Given the description of an element on the screen output the (x, y) to click on. 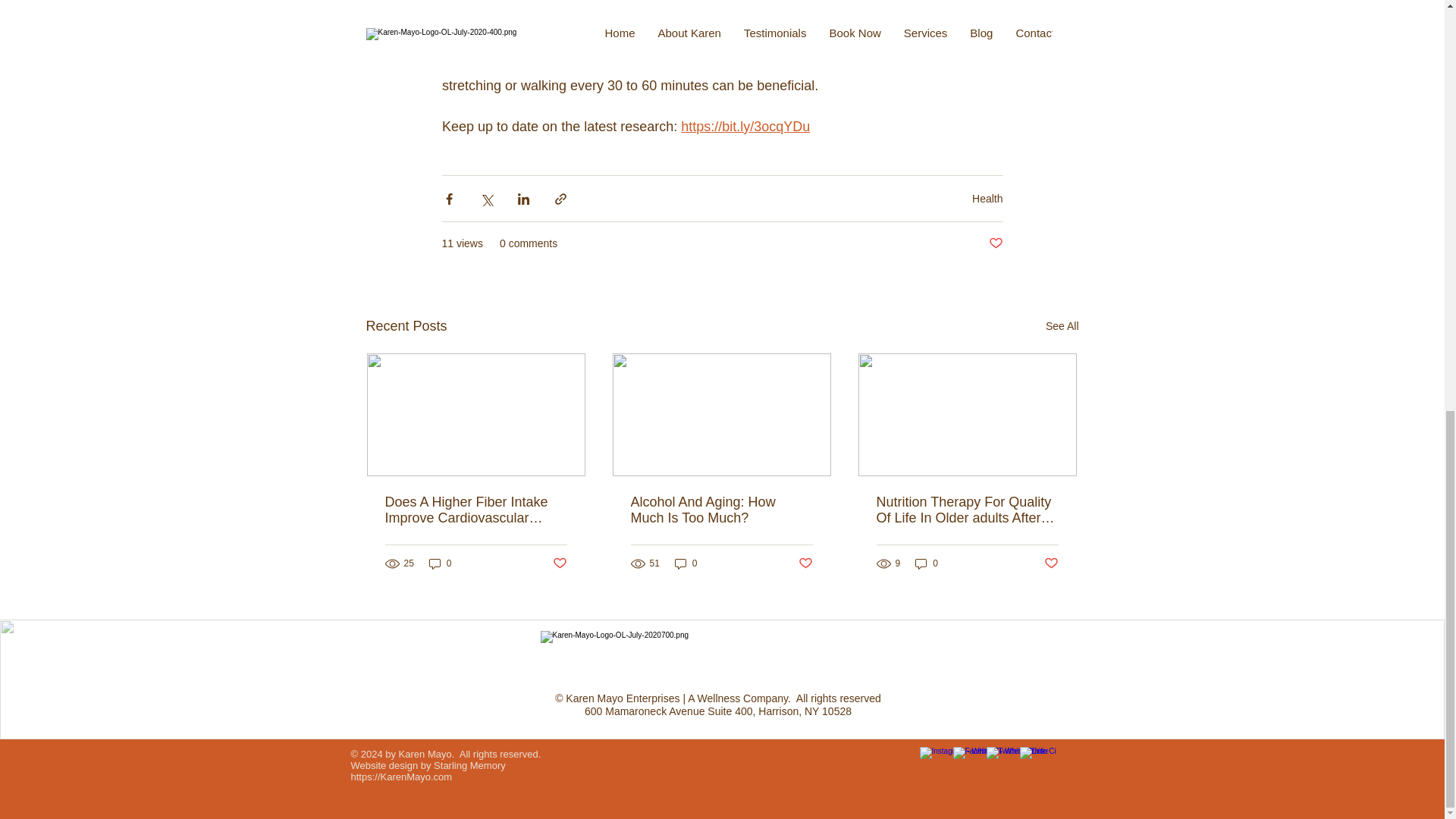
Health (987, 197)
0 (440, 563)
See All (1061, 326)
Post not marked as liked (995, 243)
